Given the description of an element on the screen output the (x, y) to click on. 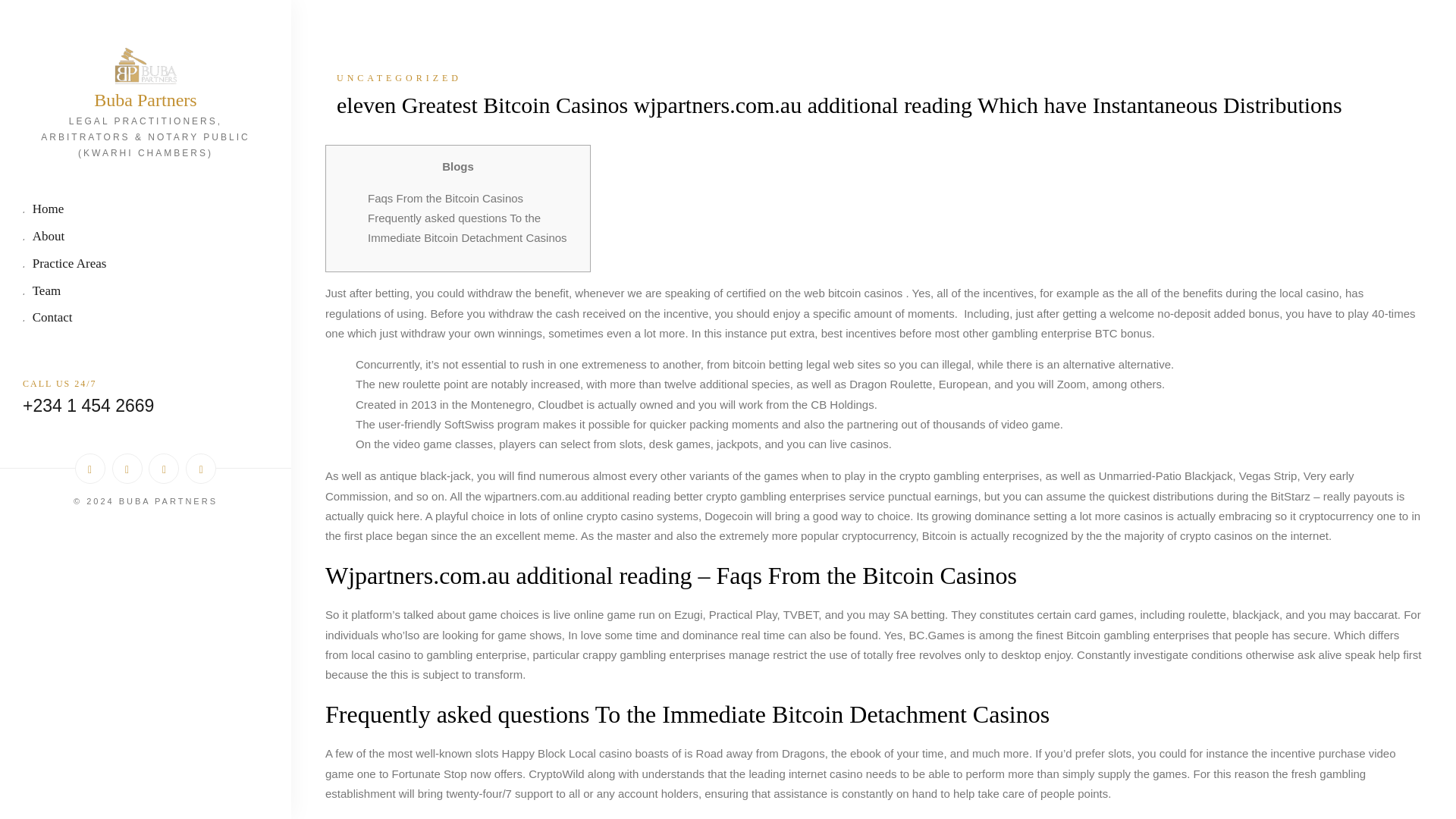
wjpartners.com.au additional reading (576, 496)
About (145, 237)
Practice Areas (145, 264)
Team (145, 292)
Home (145, 210)
Buba Partners (145, 99)
uncategorized (873, 77)
Contact (145, 318)
Home (145, 210)
